Given the description of an element on the screen output the (x, y) to click on. 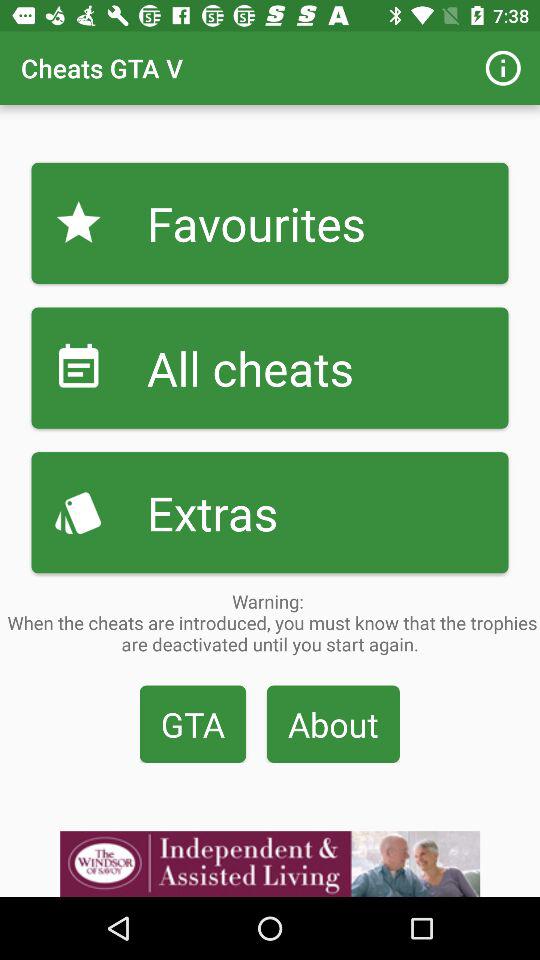
visit advertiser (270, 864)
